Given the description of an element on the screen output the (x, y) to click on. 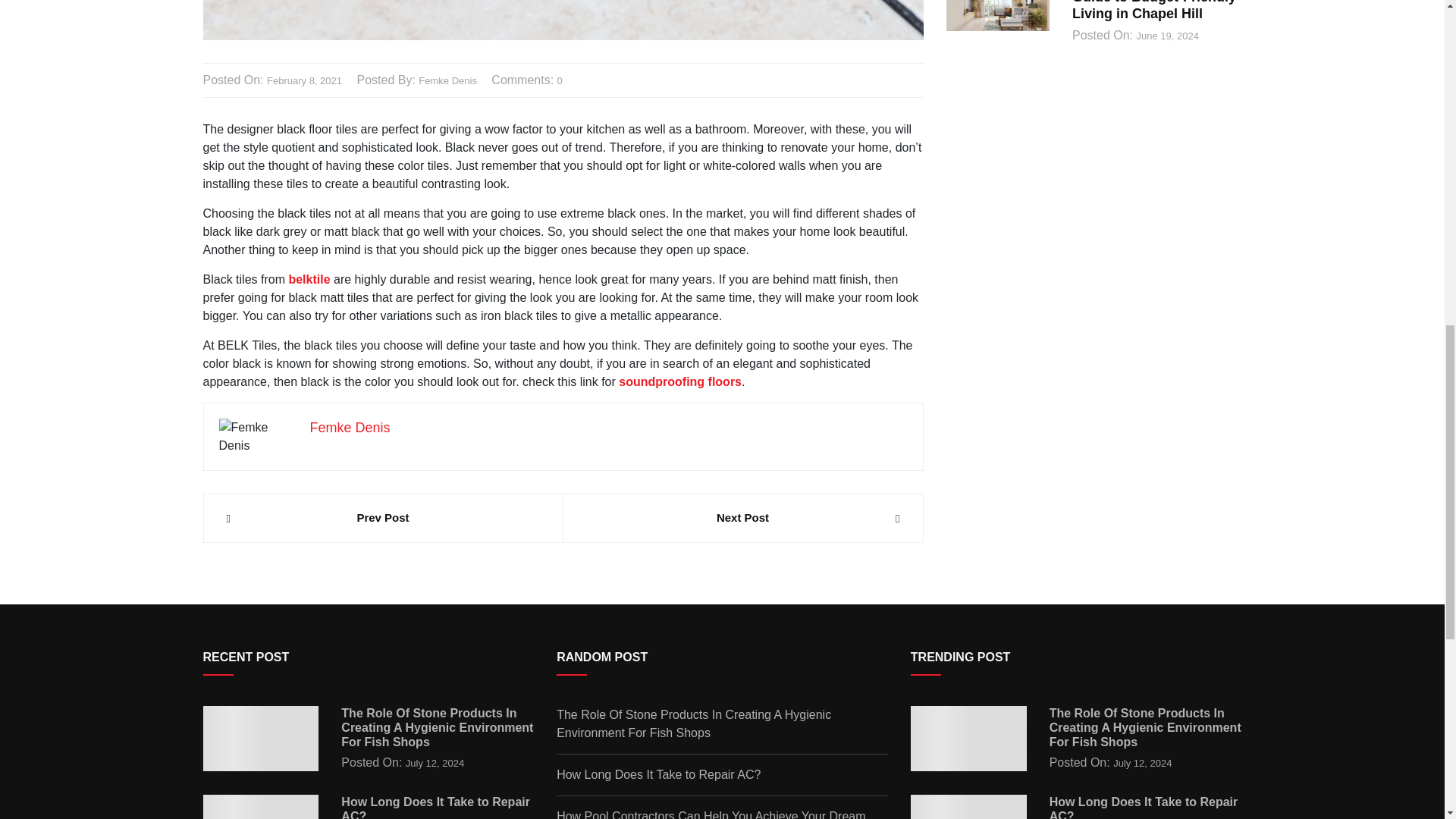
Femke Denis (448, 80)
February 8, 2021 (304, 80)
Femke Denis (349, 427)
Next Post (742, 518)
belktile (309, 278)
Prev Post (381, 518)
soundproofing floors (679, 381)
